Given the description of an element on the screen output the (x, y) to click on. 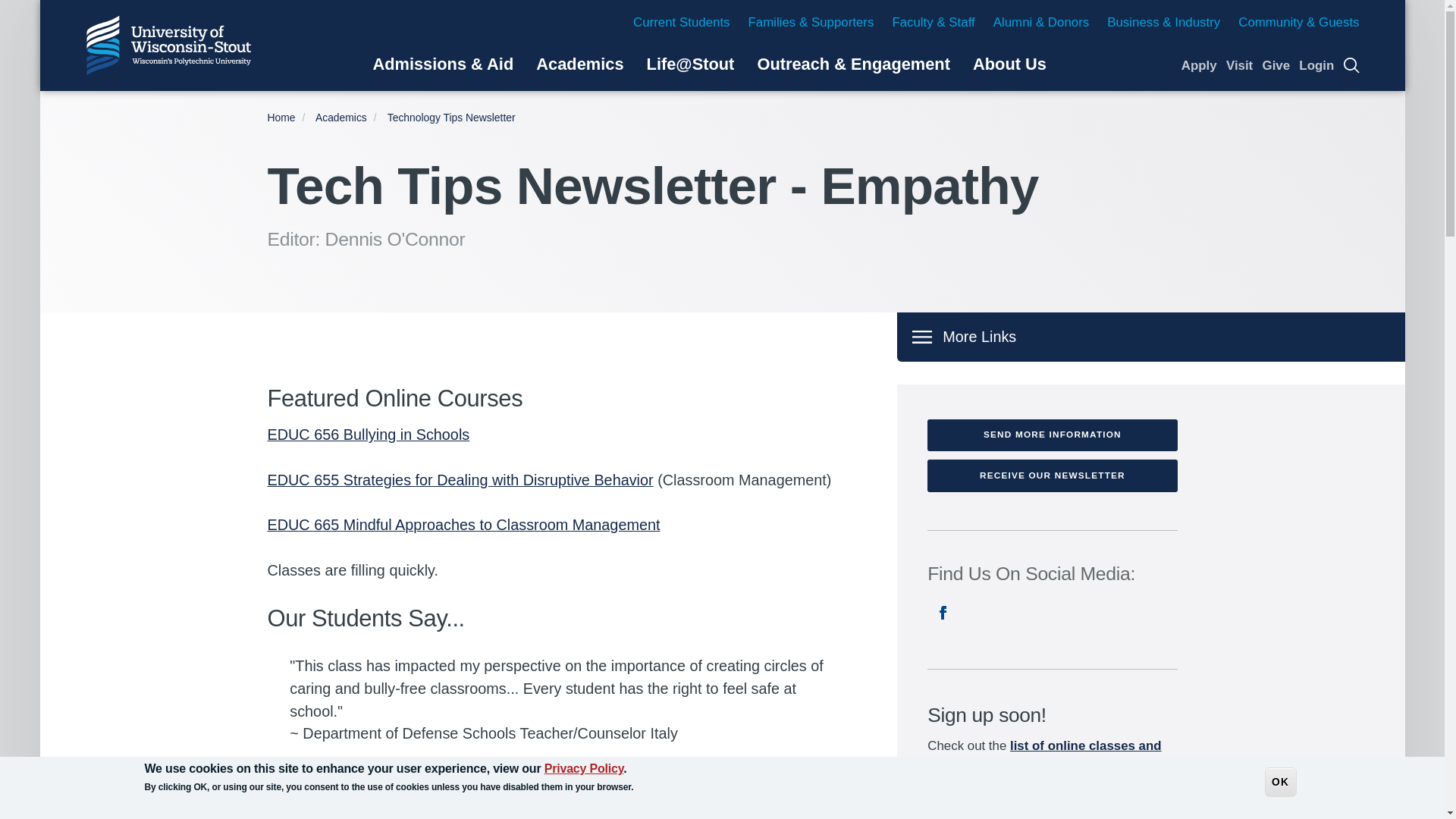
About Us (1009, 63)
University of Wisconsin-Stout (167, 45)
Common Logins for UW-Stout (1315, 65)
Current Students (681, 22)
University of Wisconsin-Stout (167, 45)
Academics (579, 63)
